Given the description of an element on the screen output the (x, y) to click on. 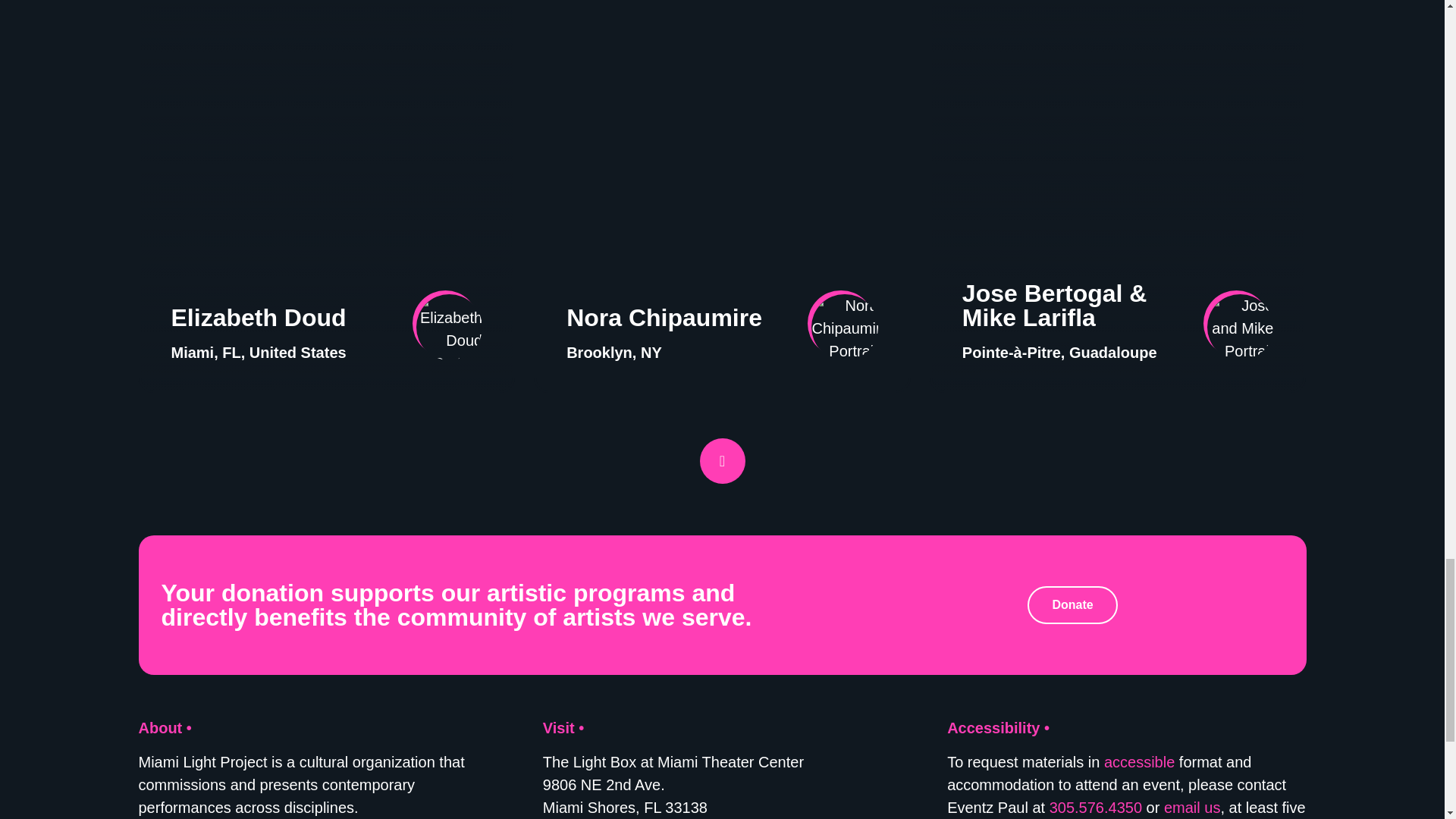
accessible (1138, 761)
305.576.4350 (1095, 807)
email us (1191, 807)
Donate (1071, 605)
